Given the description of an element on the screen output the (x, y) to click on. 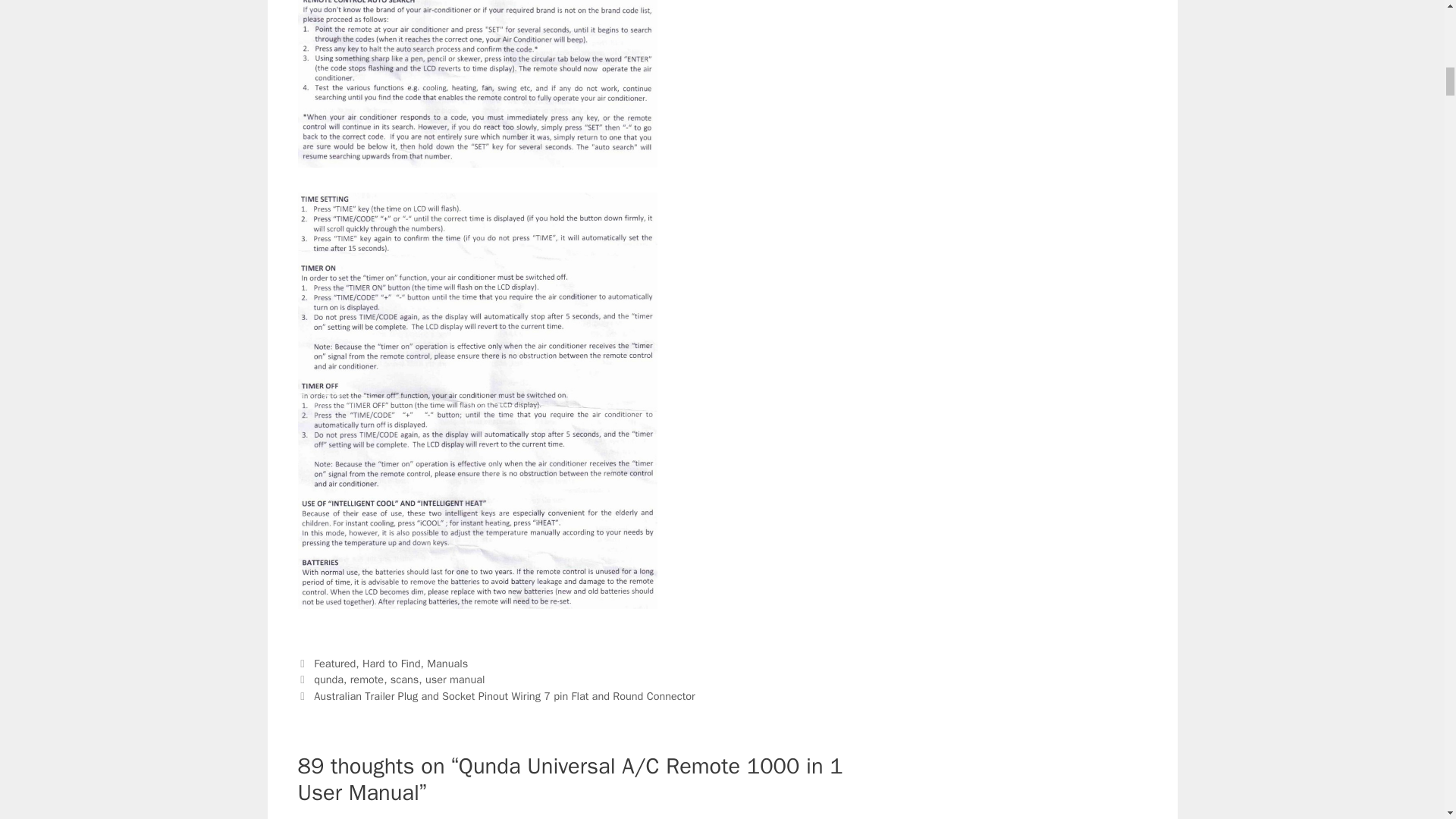
Manuals (446, 663)
qunda (328, 679)
Featured (334, 663)
user manual (454, 679)
scans (404, 679)
Hard to Find (391, 663)
remote (367, 679)
